Given the description of an element on the screen output the (x, y) to click on. 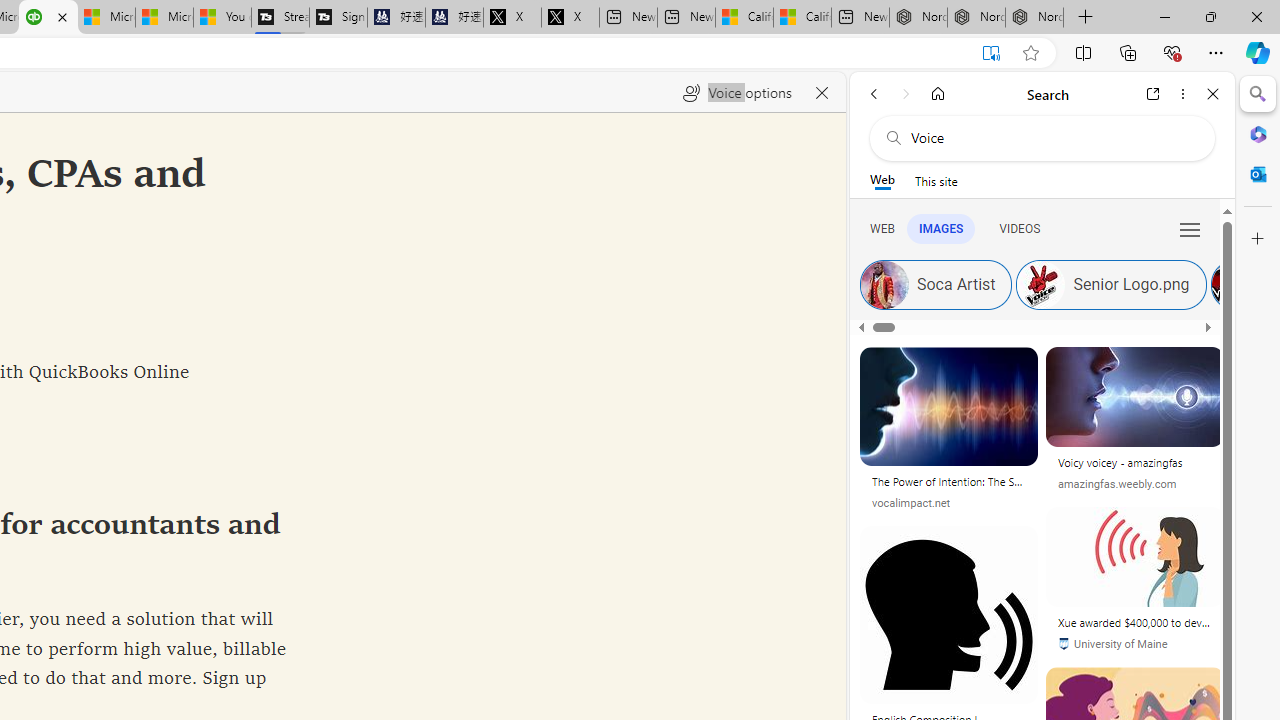
IMAGES (940, 228)
University of Maine (1112, 643)
Search Filter, WEB (882, 228)
Microsoft 365 (1258, 133)
vocalimpact.net (911, 502)
Search Filter, VIDEOS (1019, 228)
Image result for Voice (1134, 556)
Home (938, 93)
Voice options (737, 92)
